Given the description of an element on the screen output the (x, y) to click on. 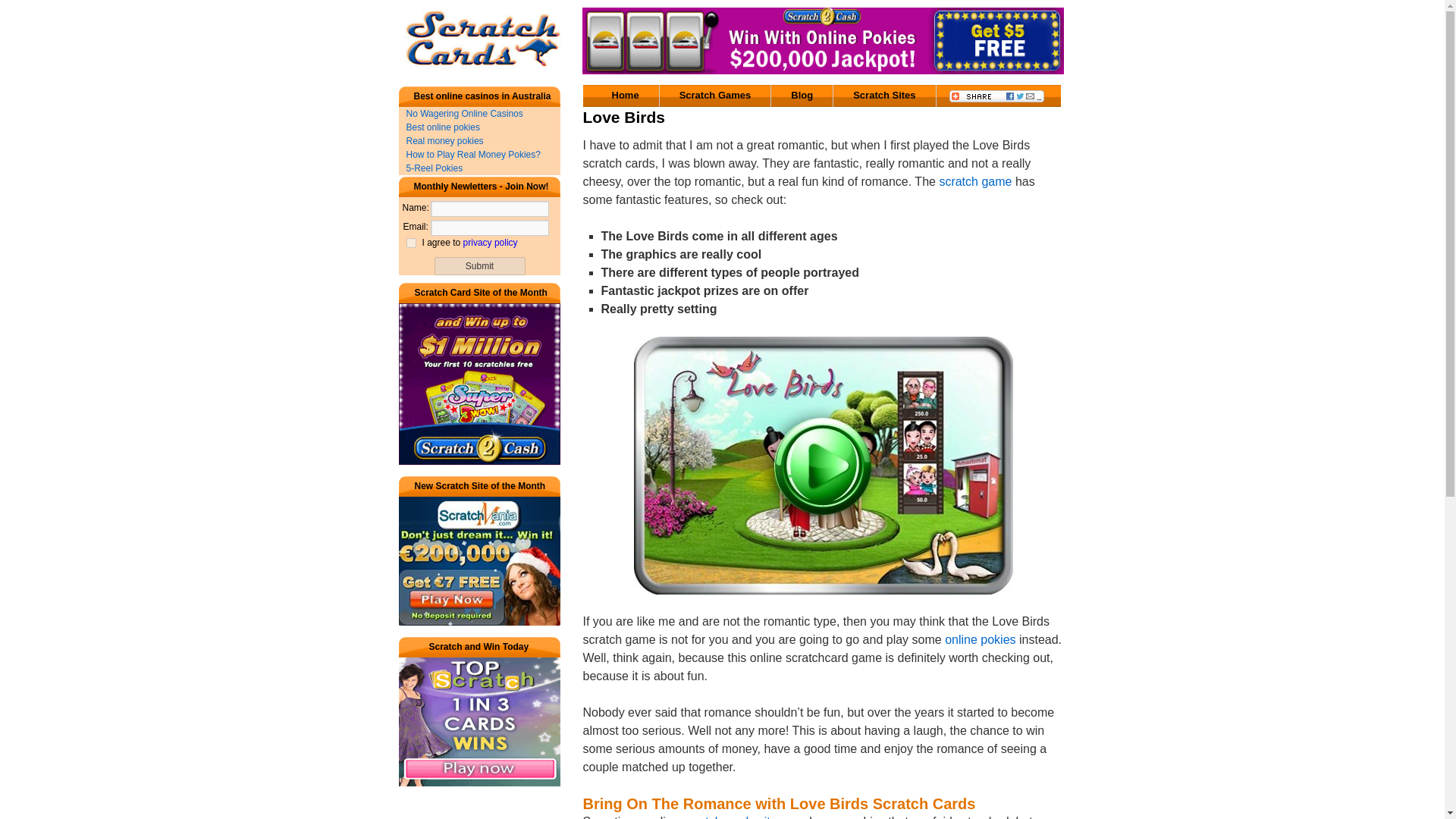
Submit (478, 266)
Play Now at Scratch2Cash! (823, 40)
Scratch Games (715, 96)
Home (625, 96)
terms (411, 243)
Scratch Games (715, 96)
Home (625, 96)
